Given the description of an element on the screen output the (x, y) to click on. 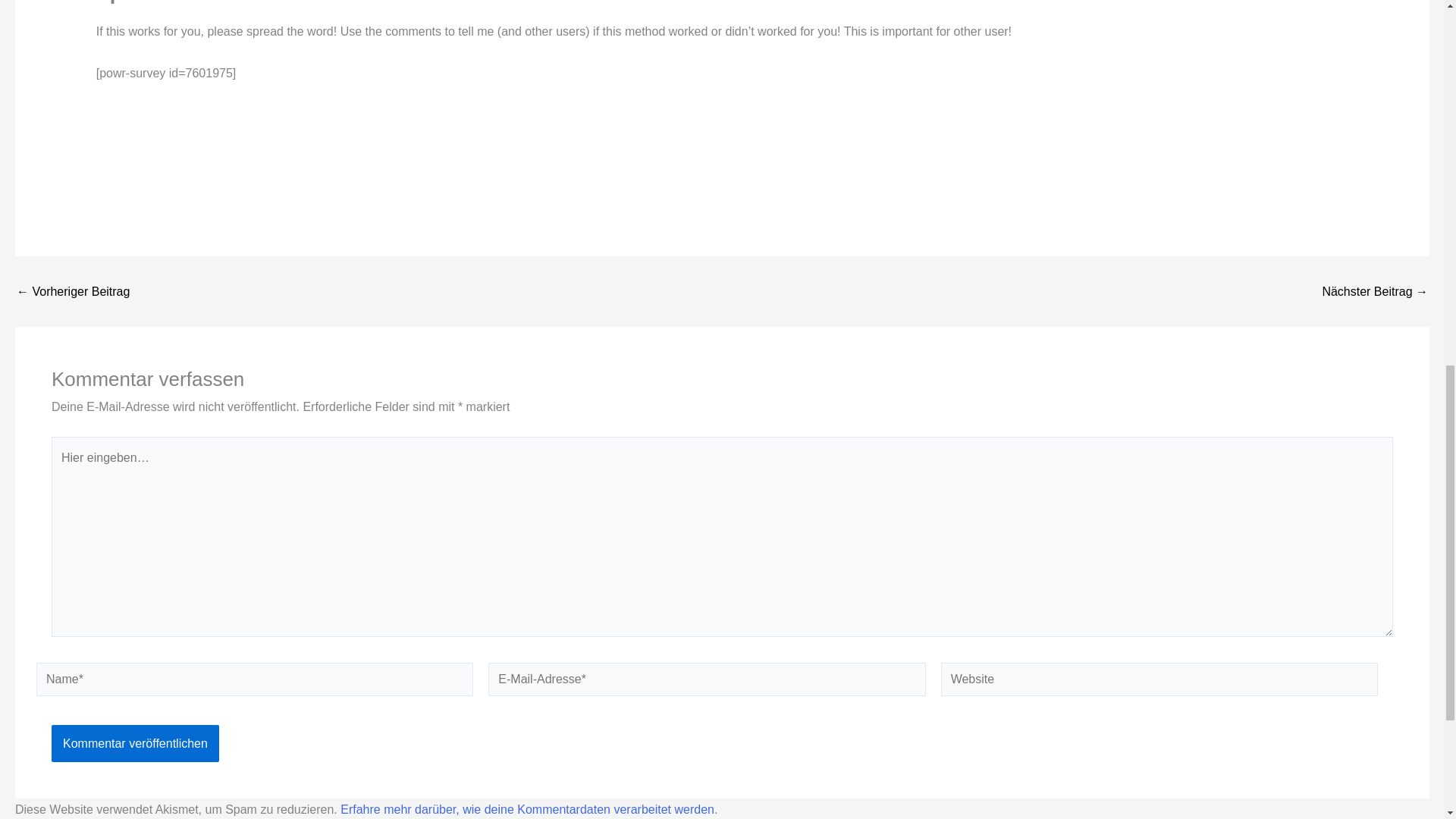
Premiumize Multihoster review (72, 291)
